Given the description of an element on the screen output the (x, y) to click on. 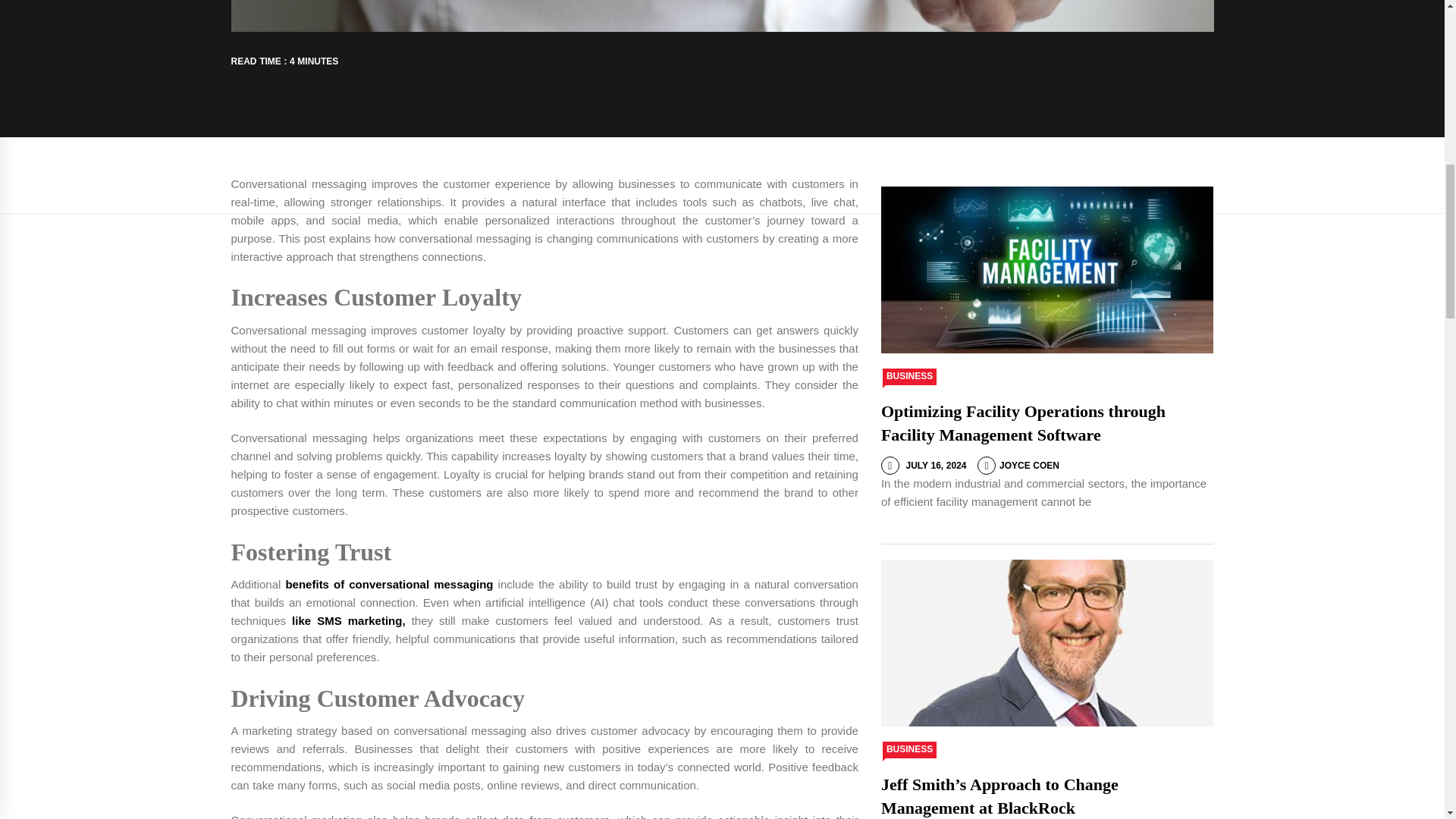
like SMS marketing, (348, 620)
benefits of conversational messaging (389, 584)
